Given the description of an element on the screen output the (x, y) to click on. 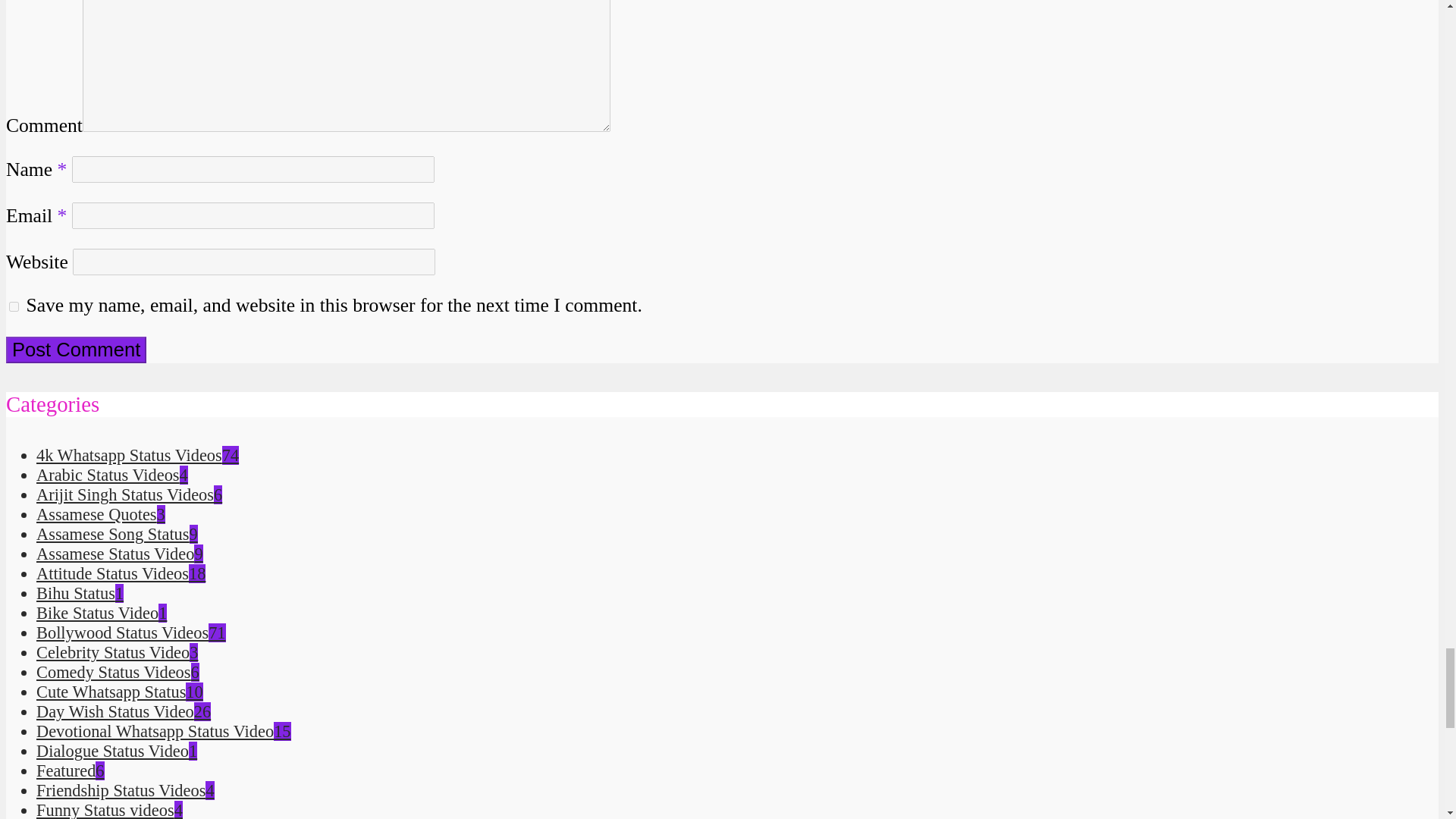
Post Comment (76, 349)
yes (13, 307)
